Given the description of an element on the screen output the (x, y) to click on. 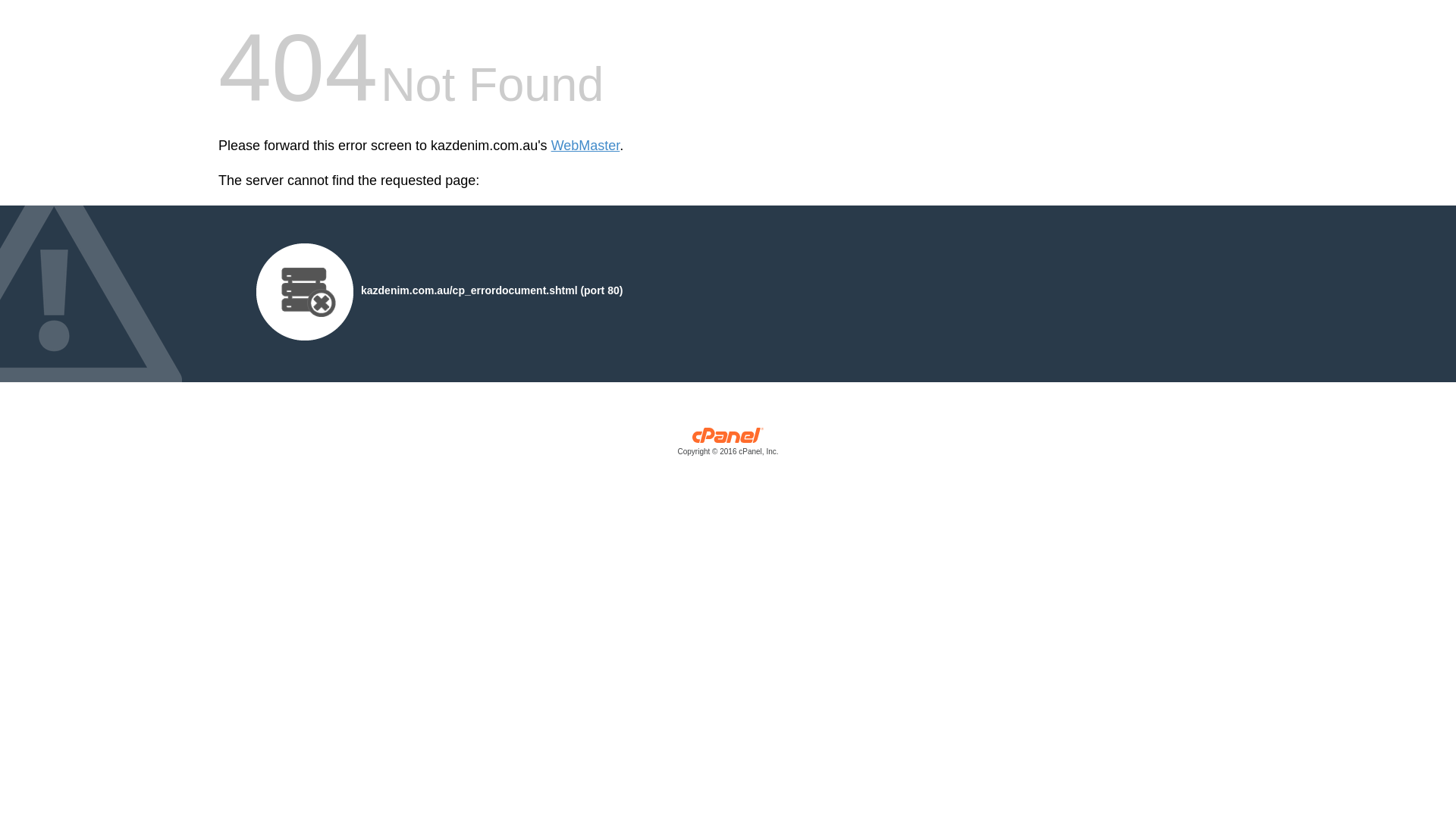
WebMaster Element type: text (585, 145)
